Given the description of an element on the screen output the (x, y) to click on. 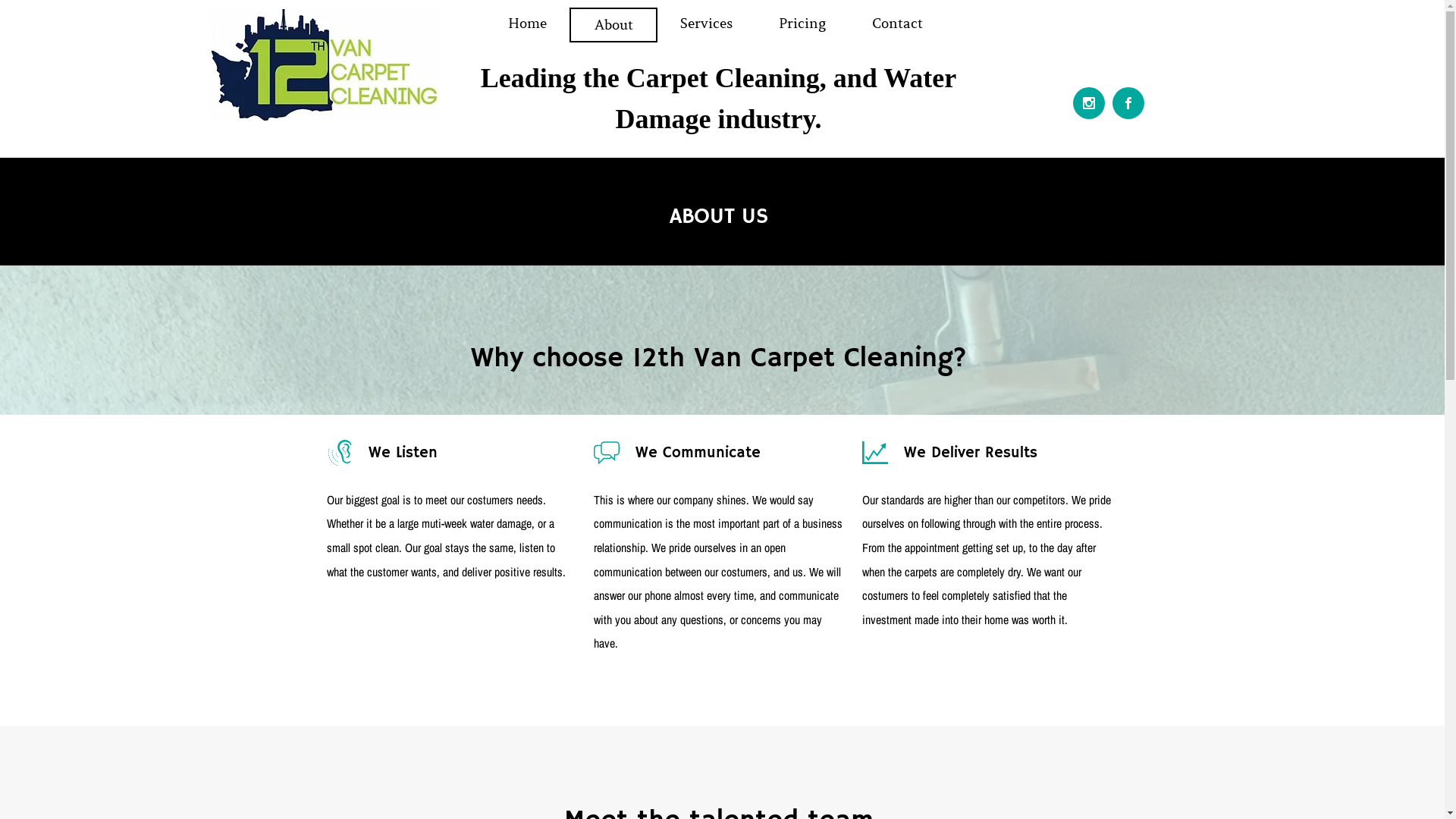
Pricing Element type: text (802, 23)
Home Element type: text (527, 23)
Contact Element type: text (897, 23)
About Element type: text (613, 24)
Services Element type: text (706, 23)
